Given the description of an element on the screen output the (x, y) to click on. 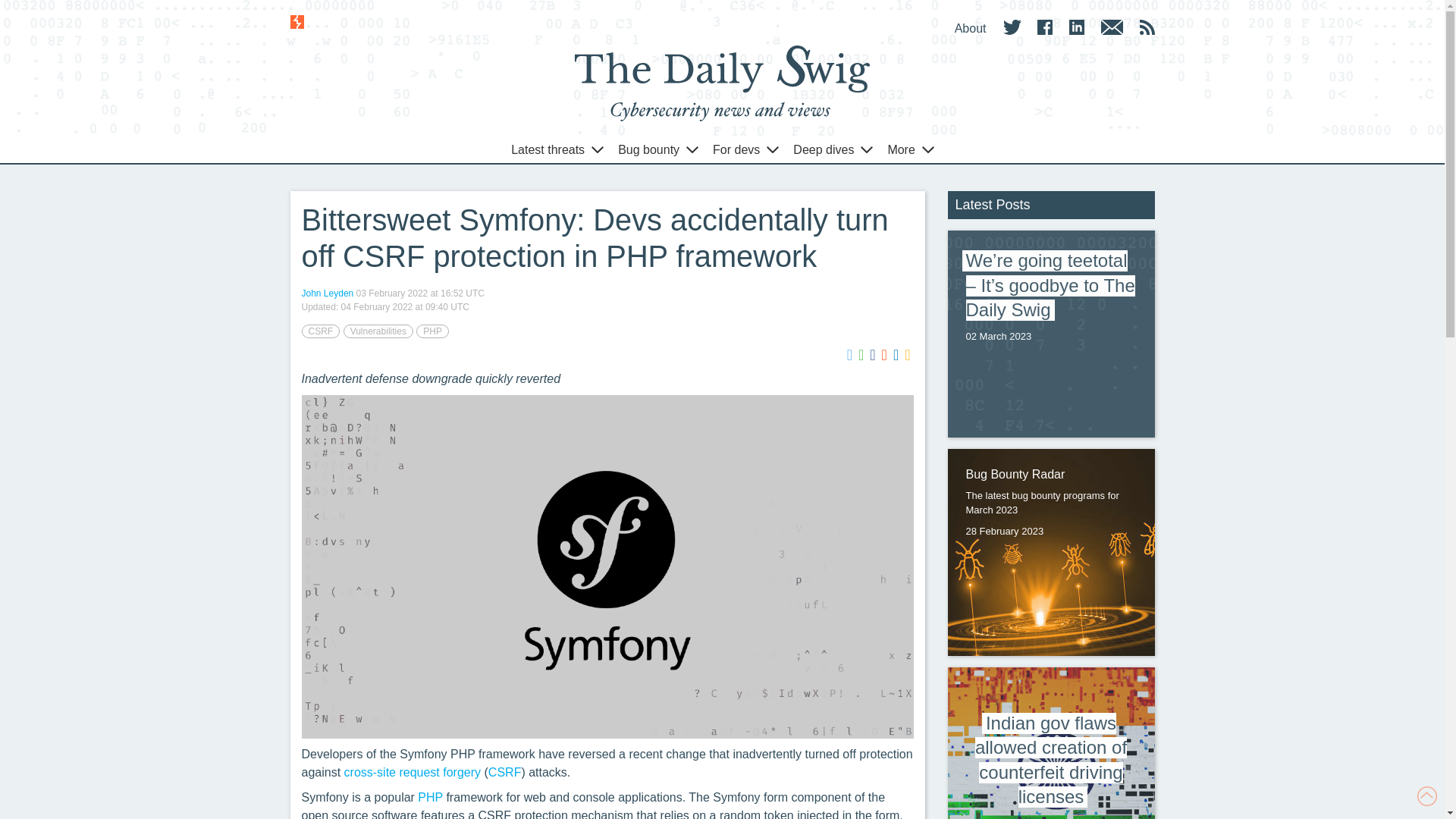
John Leyden (327, 293)
PHP (432, 331)
Vulnerabilities (378, 331)
CSRF (320, 331)
